Given the description of an element on the screen output the (x, y) to click on. 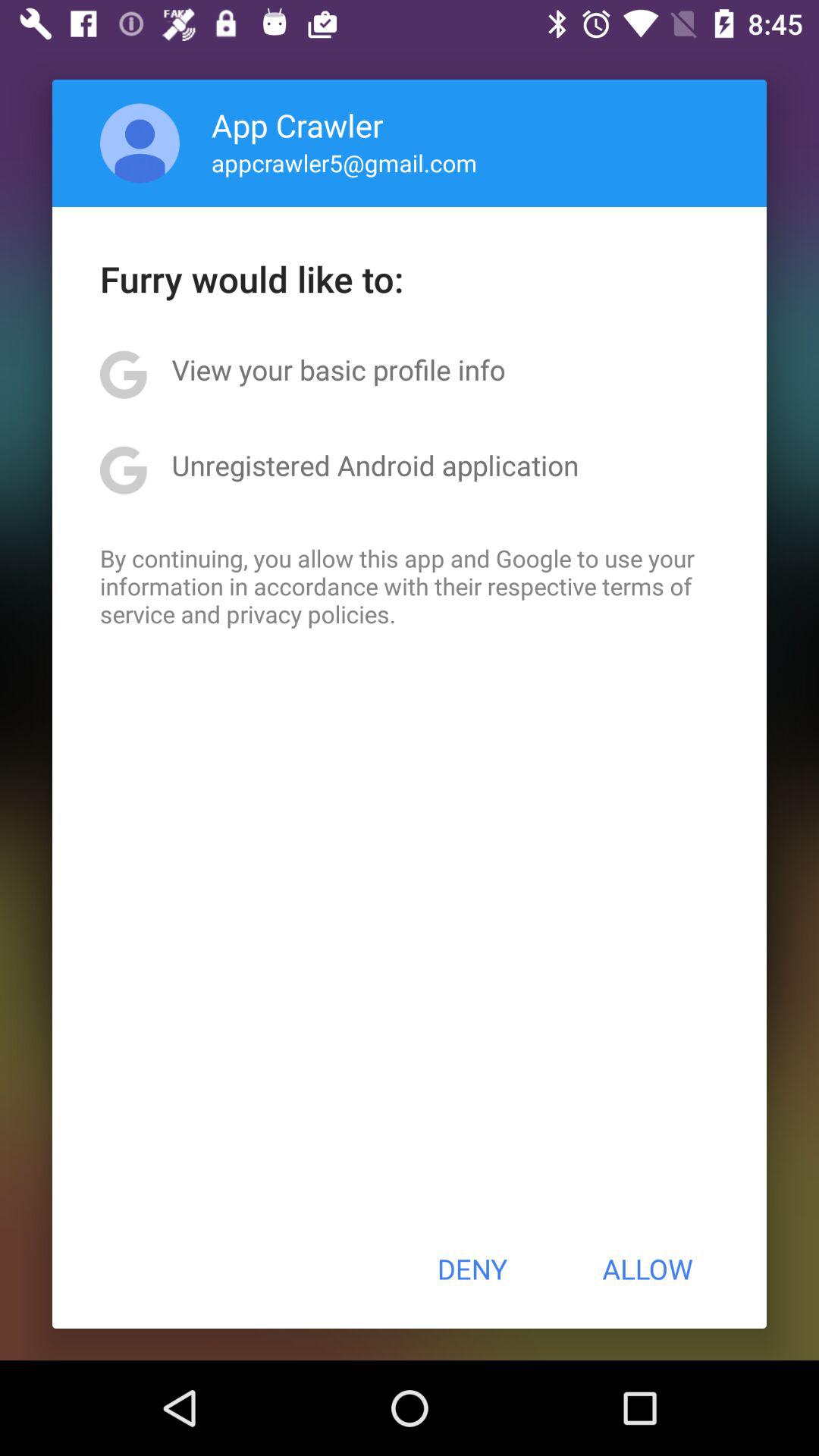
launch view your basic item (338, 369)
